Given the description of an element on the screen output the (x, y) to click on. 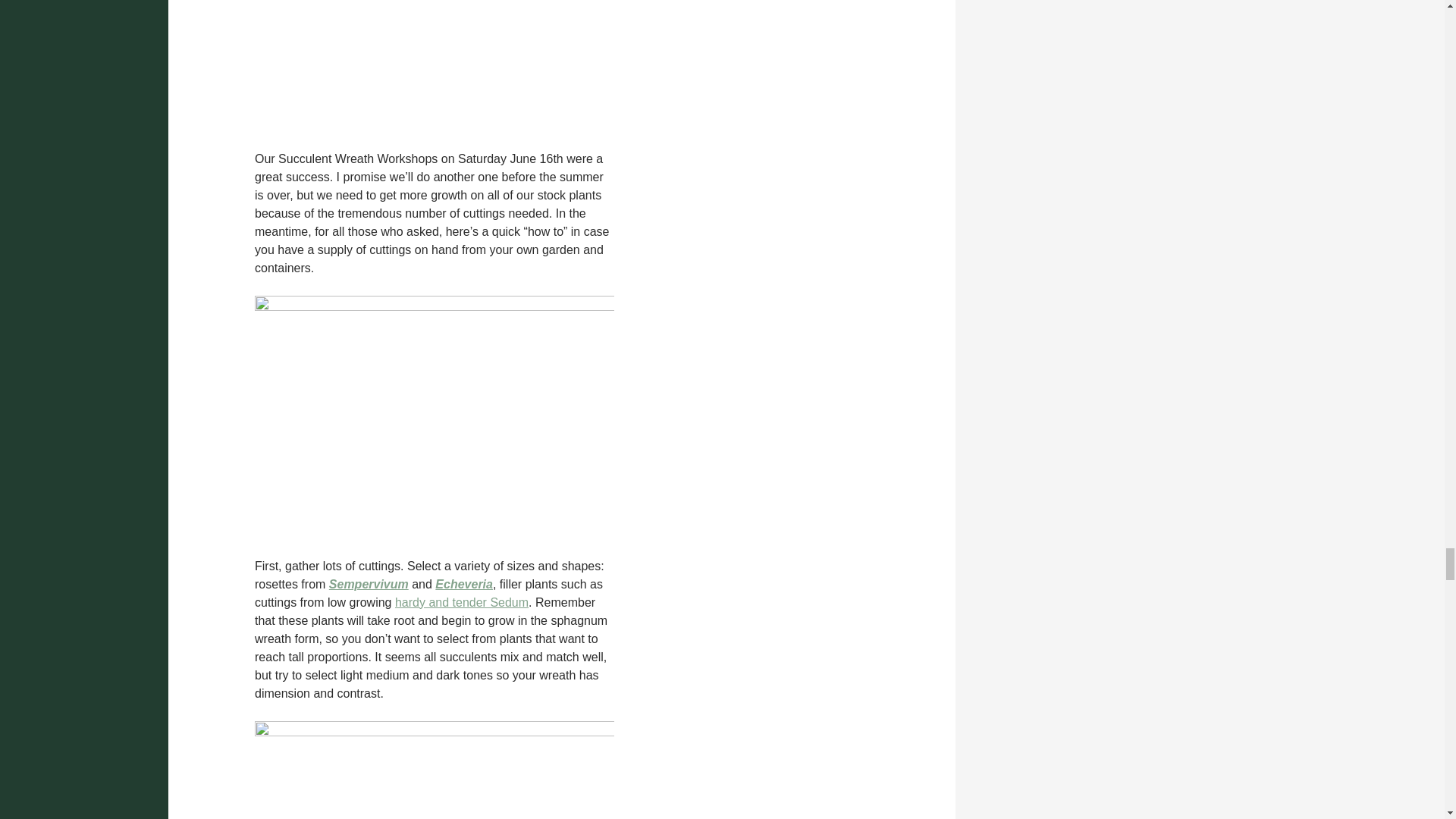
succulent wreath rosettes first (434, 770)
Succulent Wreath (434, 65)
Succulent Cuttings (434, 416)
